Given the description of an element on the screen output the (x, y) to click on. 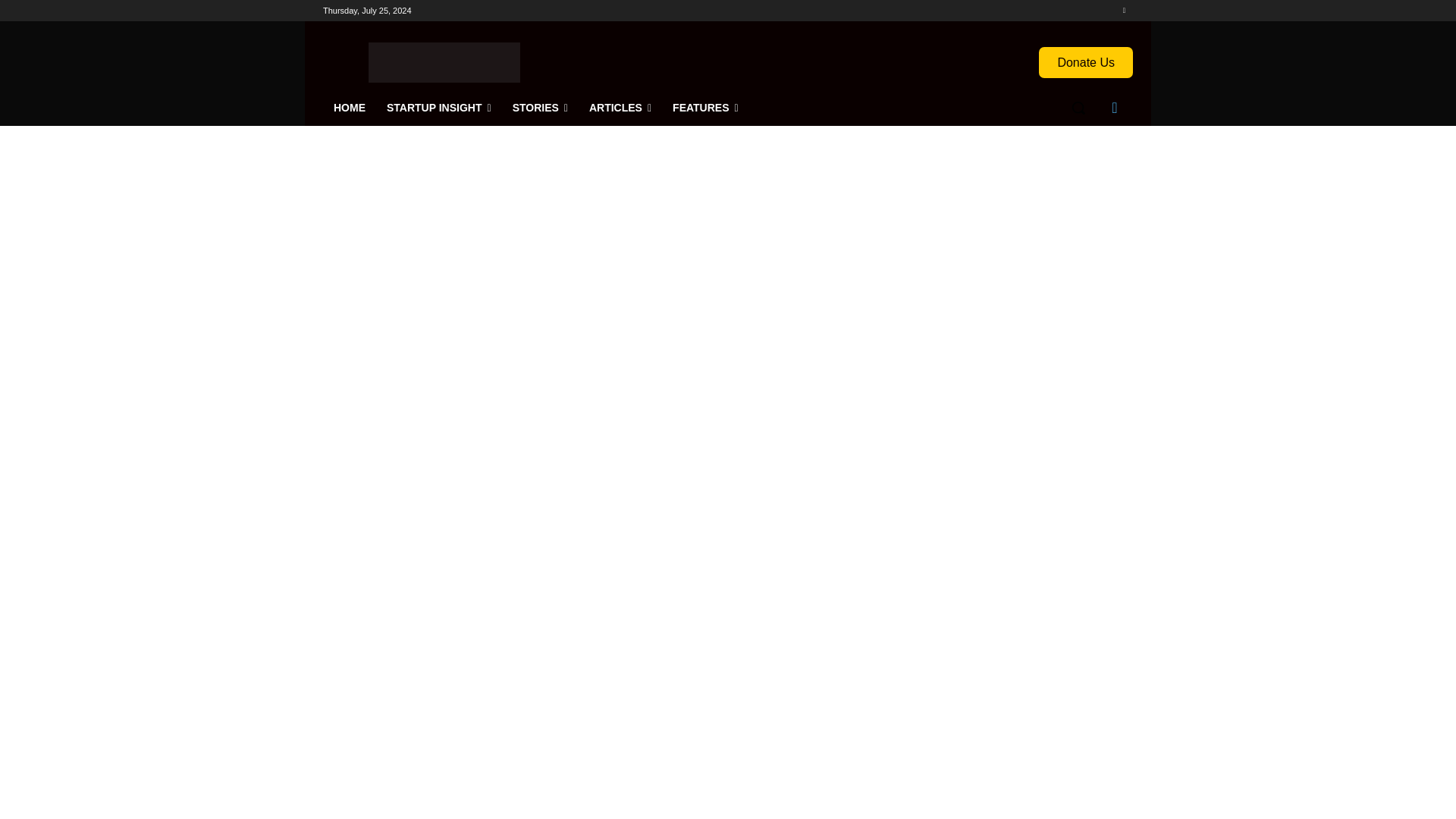
Donate Us (1085, 61)
Donate Us (1085, 61)
Linkedin (1123, 9)
